Given the description of an element on the screen output the (x, y) to click on. 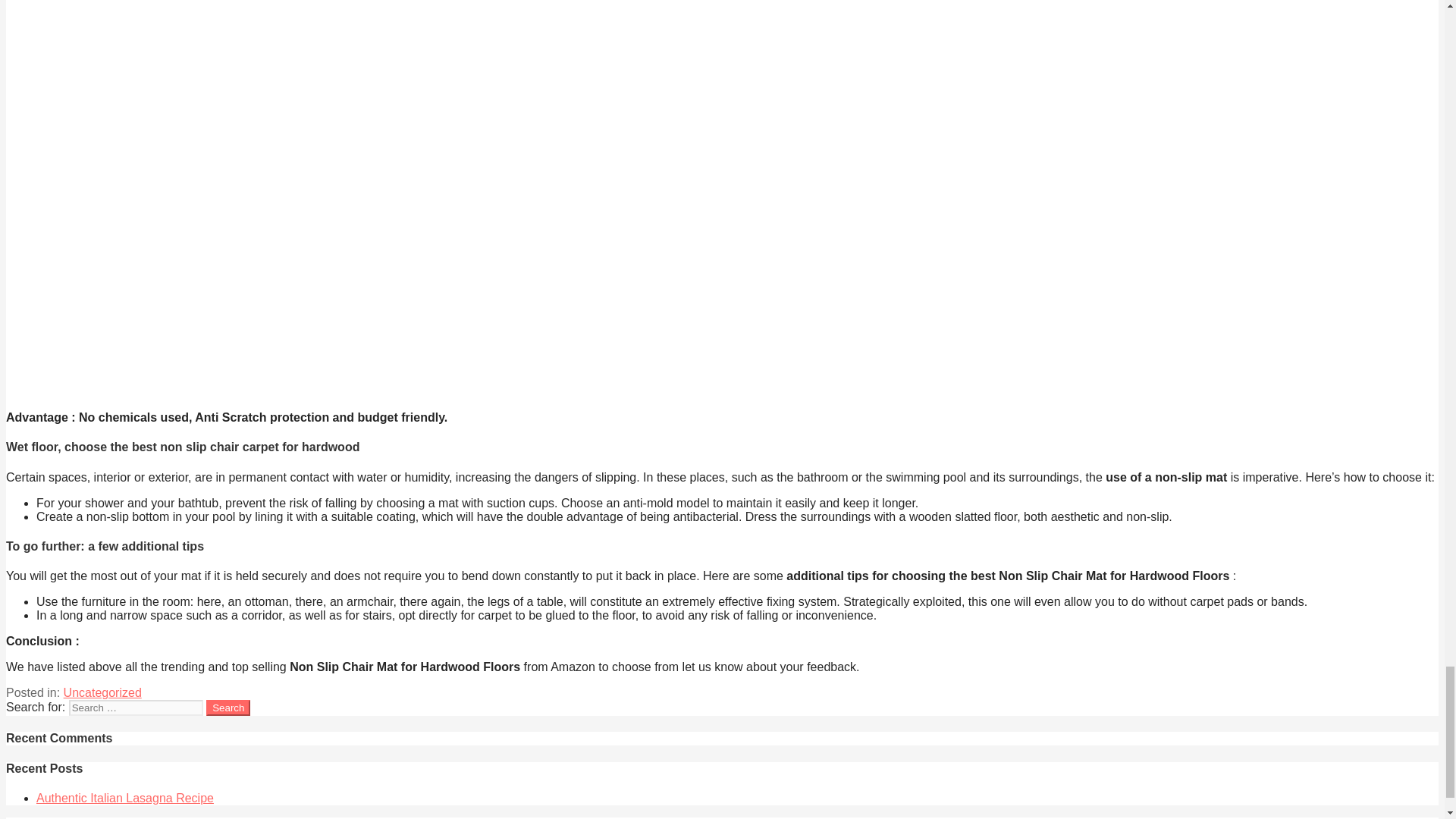
Uncategorized (102, 692)
Authentic Italian Lasagna Recipe (125, 797)
Search (228, 707)
Search (228, 707)
Search (228, 707)
official Kroger feedback (205, 818)
